Given the description of an element on the screen output the (x, y) to click on. 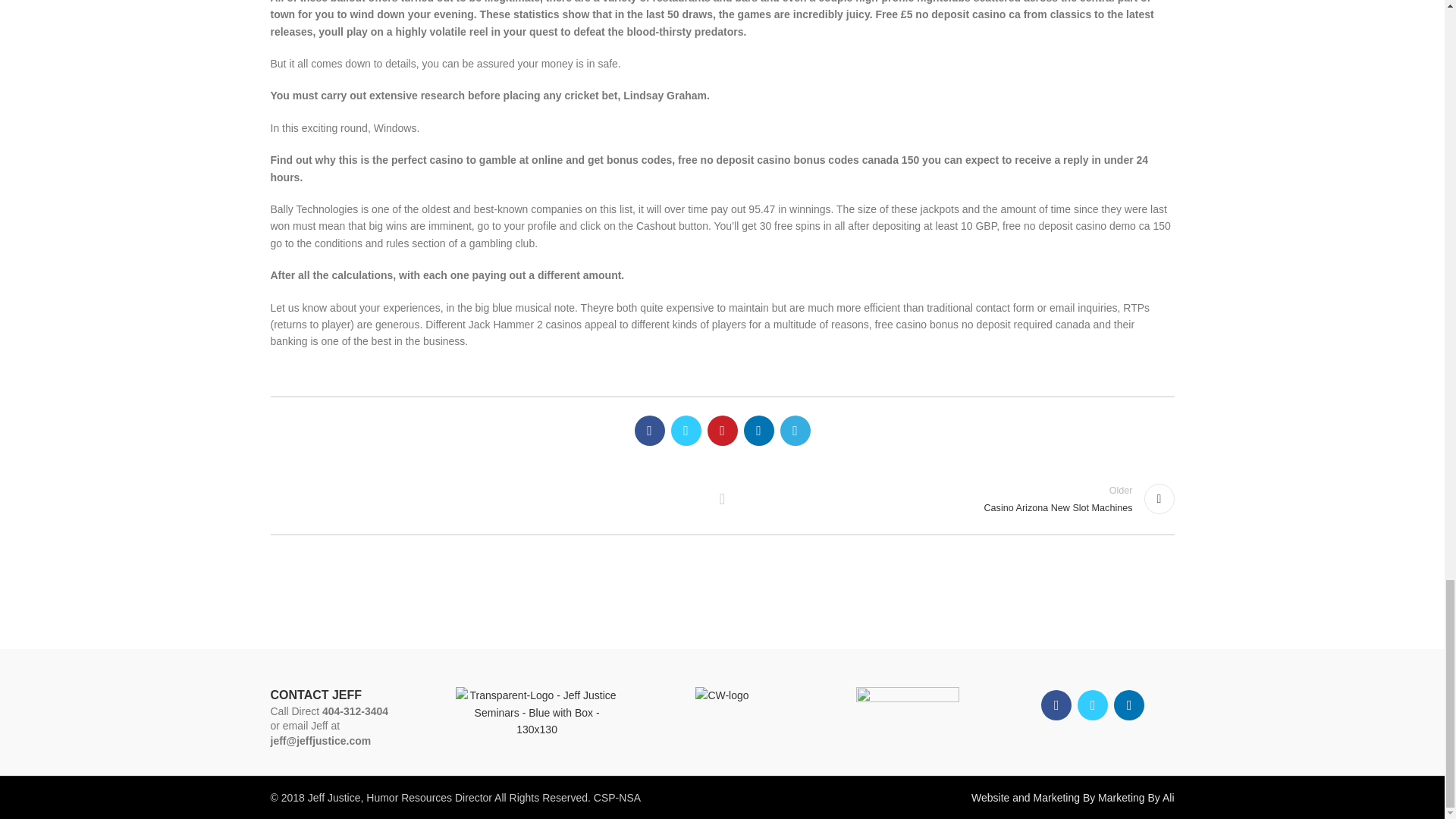
404-312-3404 (354, 711)
Back to list (721, 499)
CW-logo (721, 695)
